Given the description of an element on the screen output the (x, y) to click on. 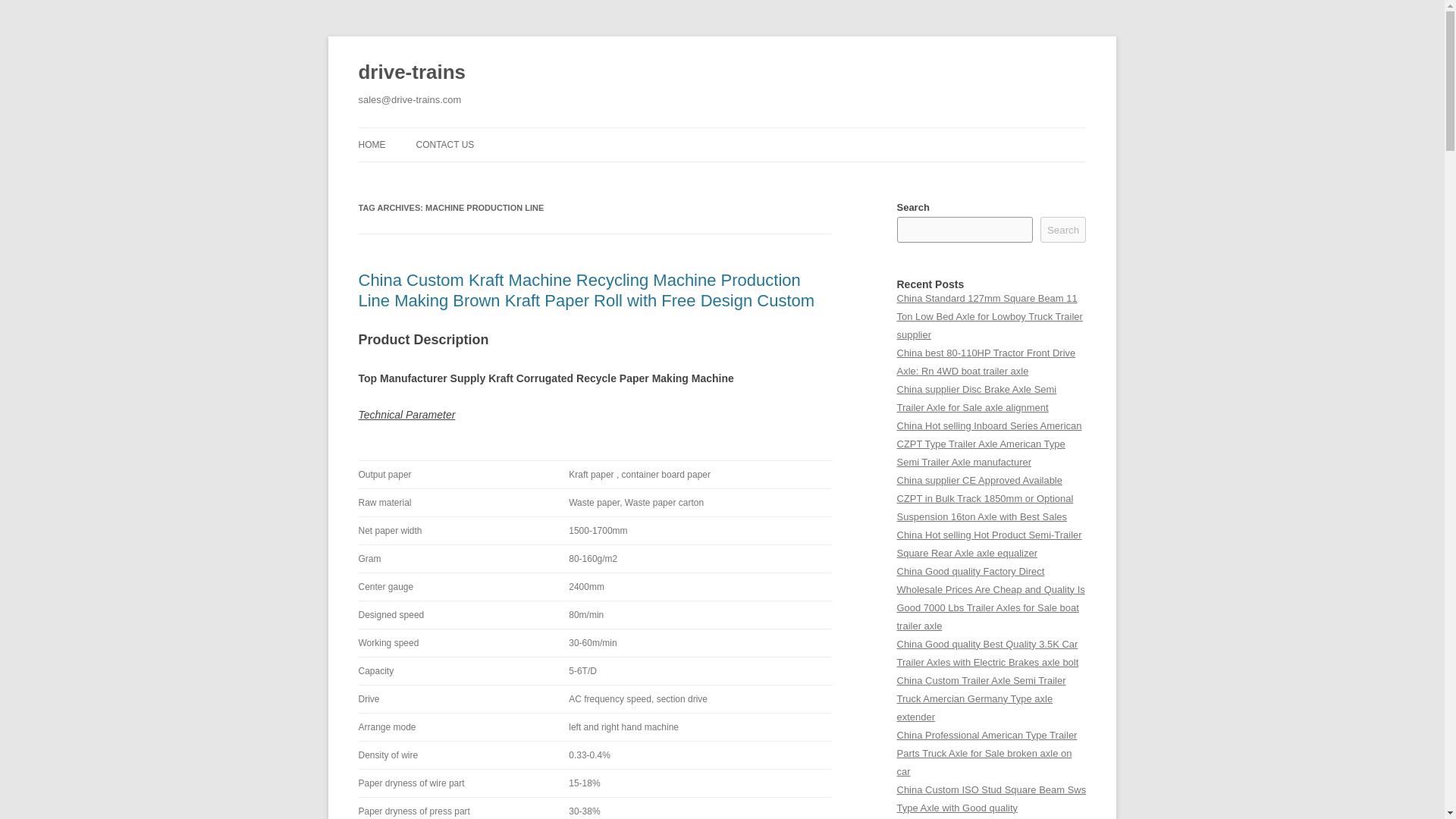
CONTACT US (444, 144)
Search (1063, 229)
drive-trains (411, 72)
HOME (371, 144)
